Given the description of an element on the screen output the (x, y) to click on. 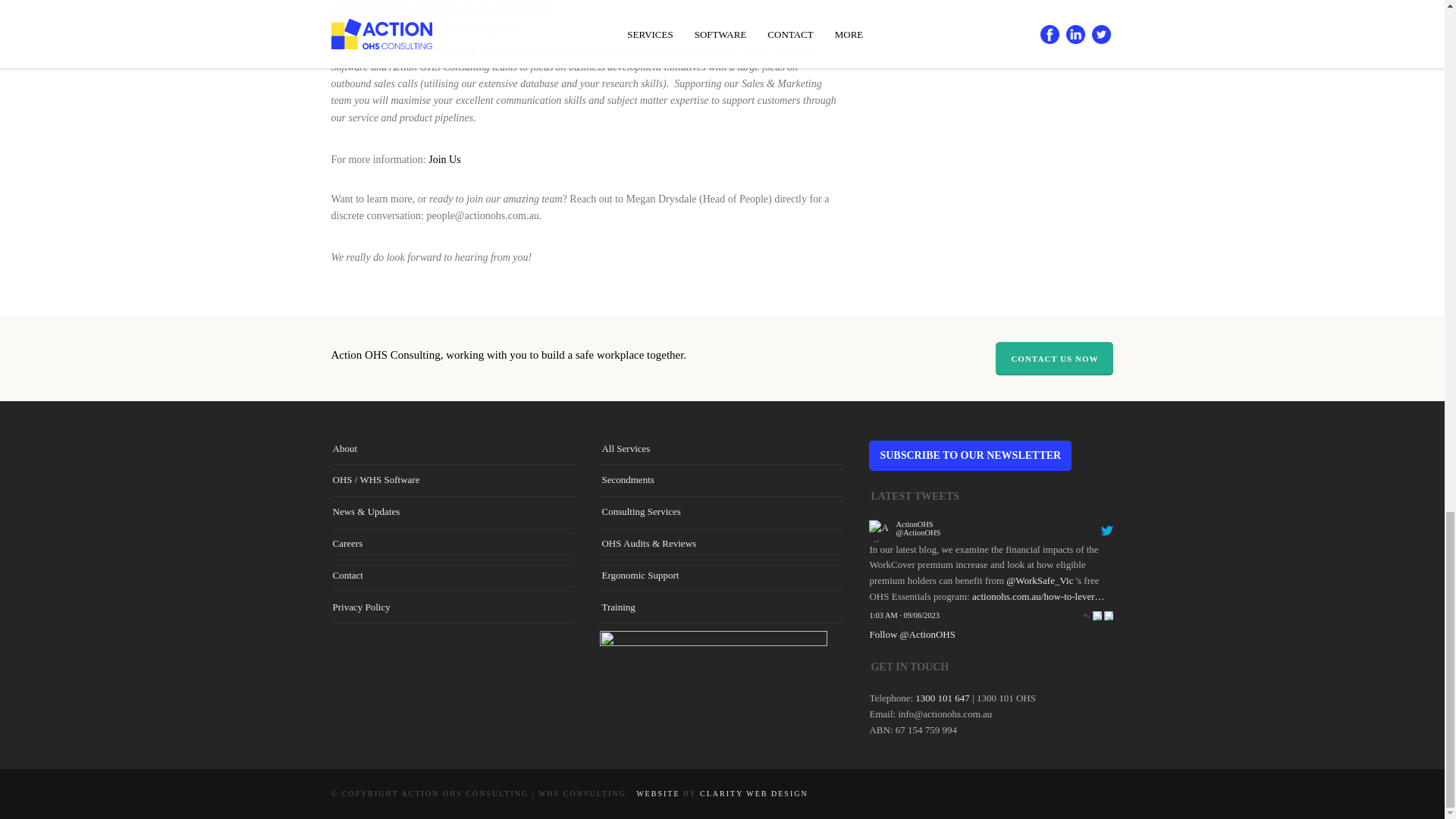
ActionOHS (918, 532)
ActionOHS (880, 532)
reply (1085, 614)
Consulting Services (640, 511)
favorite (1108, 614)
Ergonomic Support (639, 574)
Privacy Policy (360, 606)
About Action OHS Consulting (343, 447)
All Services (625, 447)
ActionOHS (914, 524)
